Given the description of an element on the screen output the (x, y) to click on. 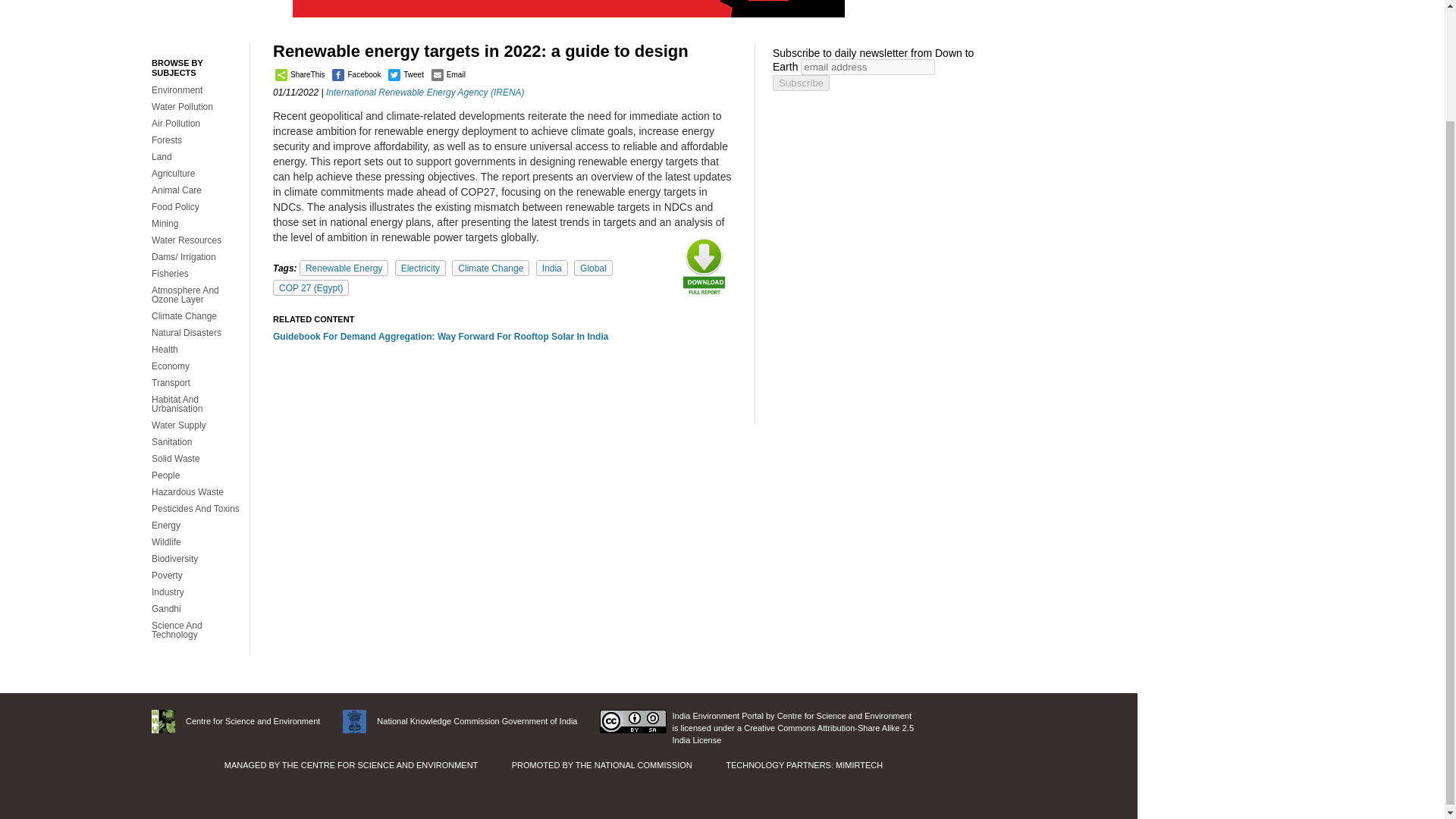
Subscribe (801, 82)
